Given the description of an element on the screen output the (x, y) to click on. 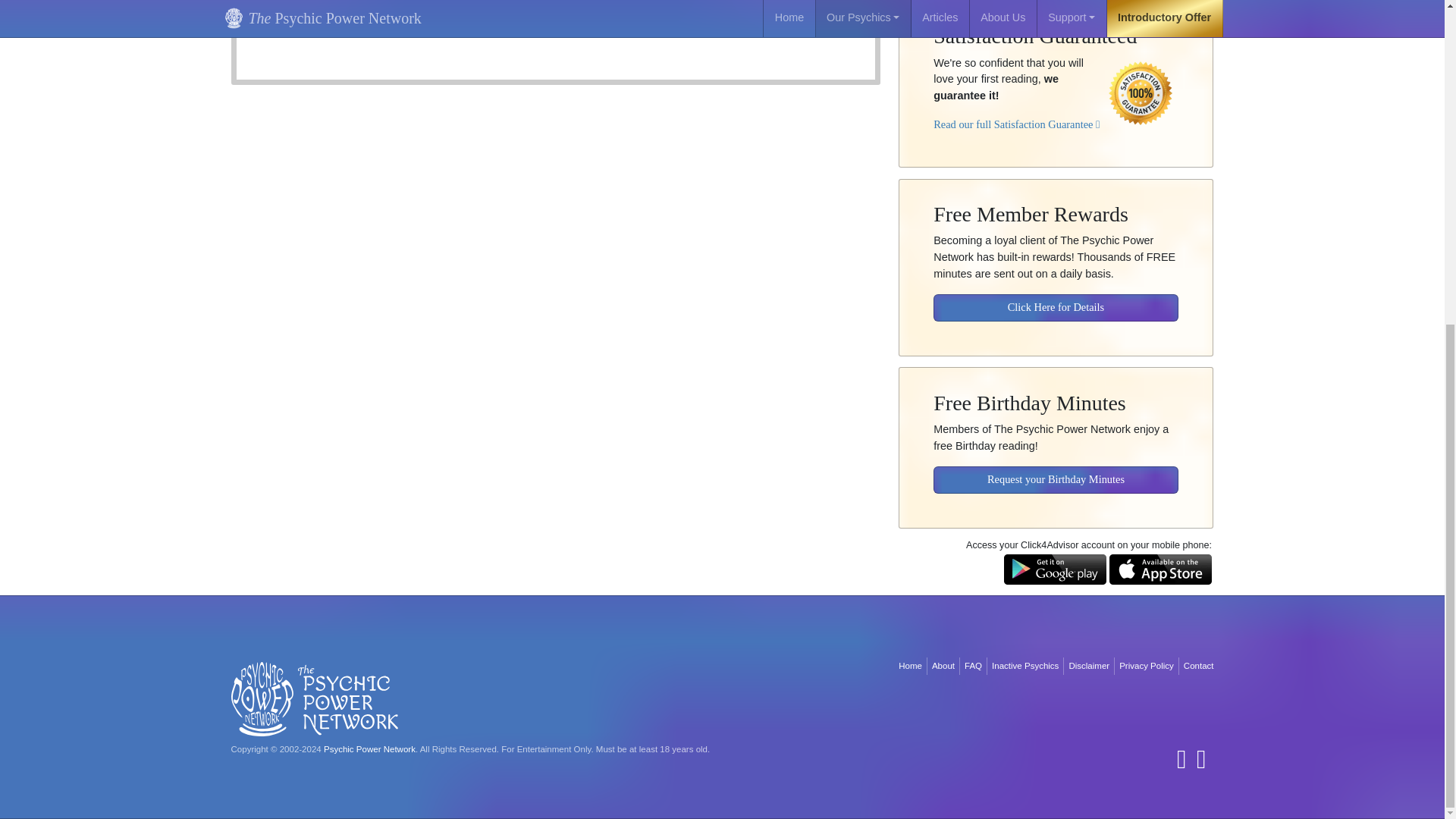
Read our full Satisfaction Guarantee  (1016, 113)
Click Here for Details (1055, 297)
Psychic Readings (401, 21)
Home (909, 665)
Request your Birthday Minutes (1055, 469)
Psychic Readings (401, 21)
